Given the description of an element on the screen output the (x, y) to click on. 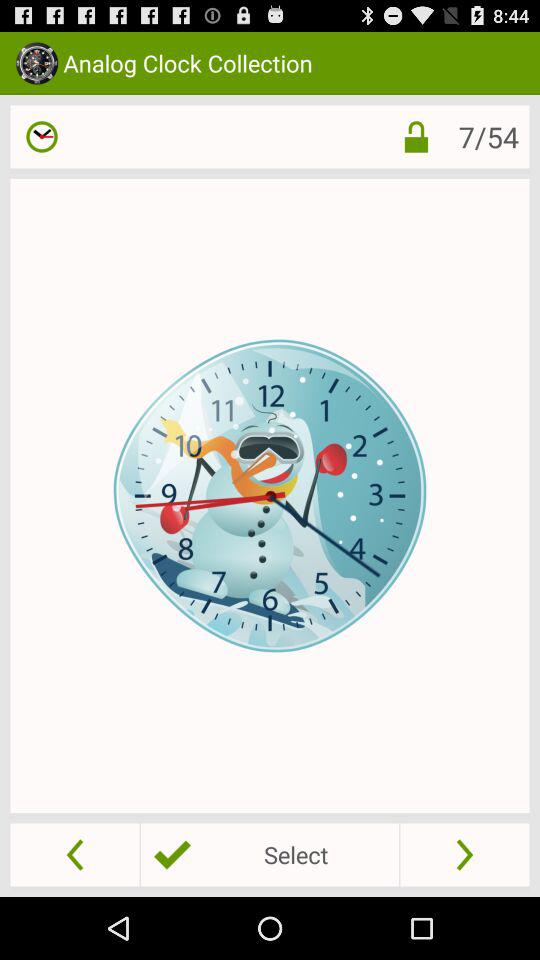
previous clock (74, 854)
